Given the description of an element on the screen output the (x, y) to click on. 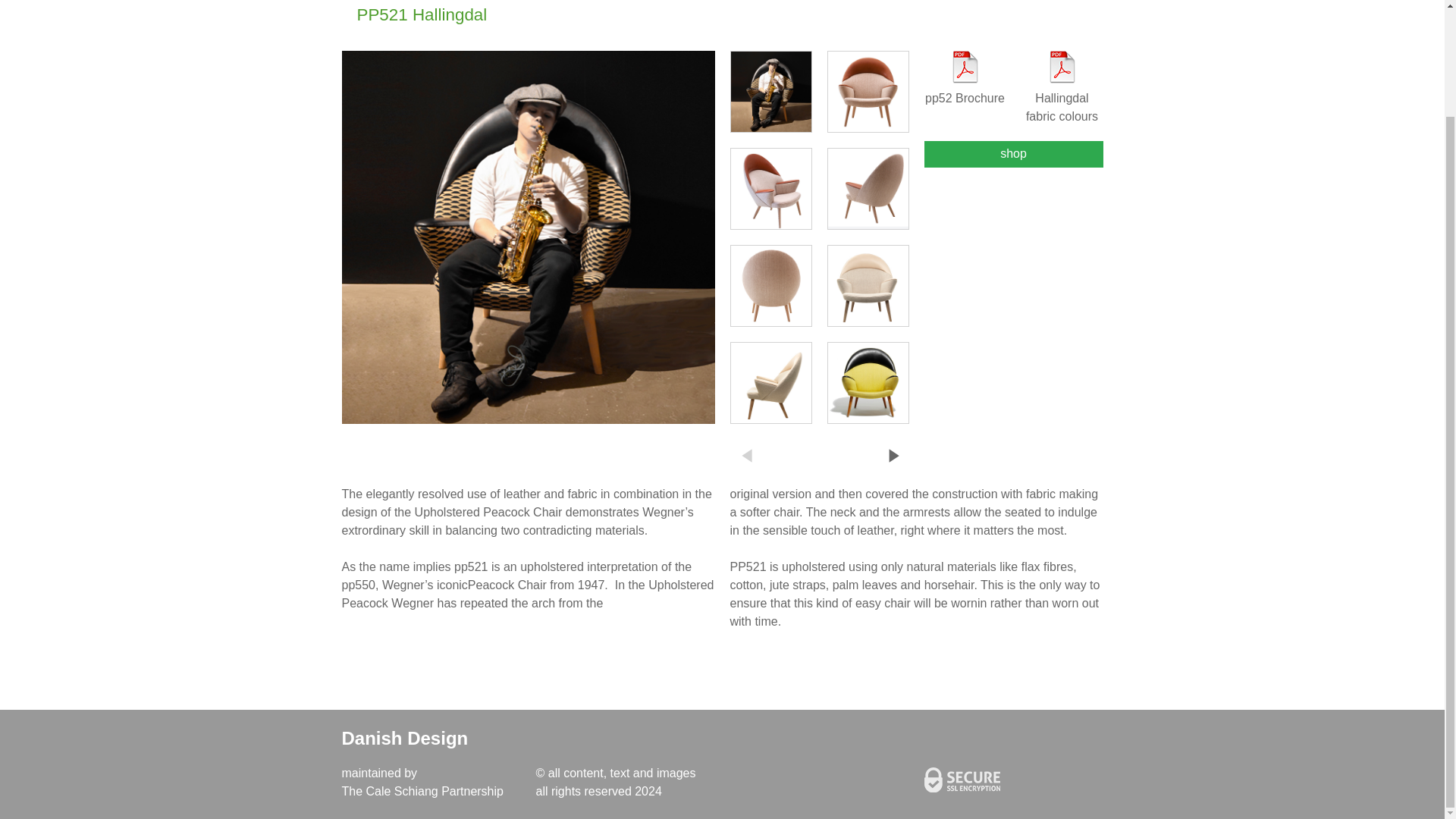
pp52 Brochure (964, 78)
pp52 Brochure (964, 78)
Hallingdal fabric colours (1061, 88)
Hallingdal fabric colours (1061, 88)
shop (1012, 153)
